Given the description of an element on the screen output the (x, y) to click on. 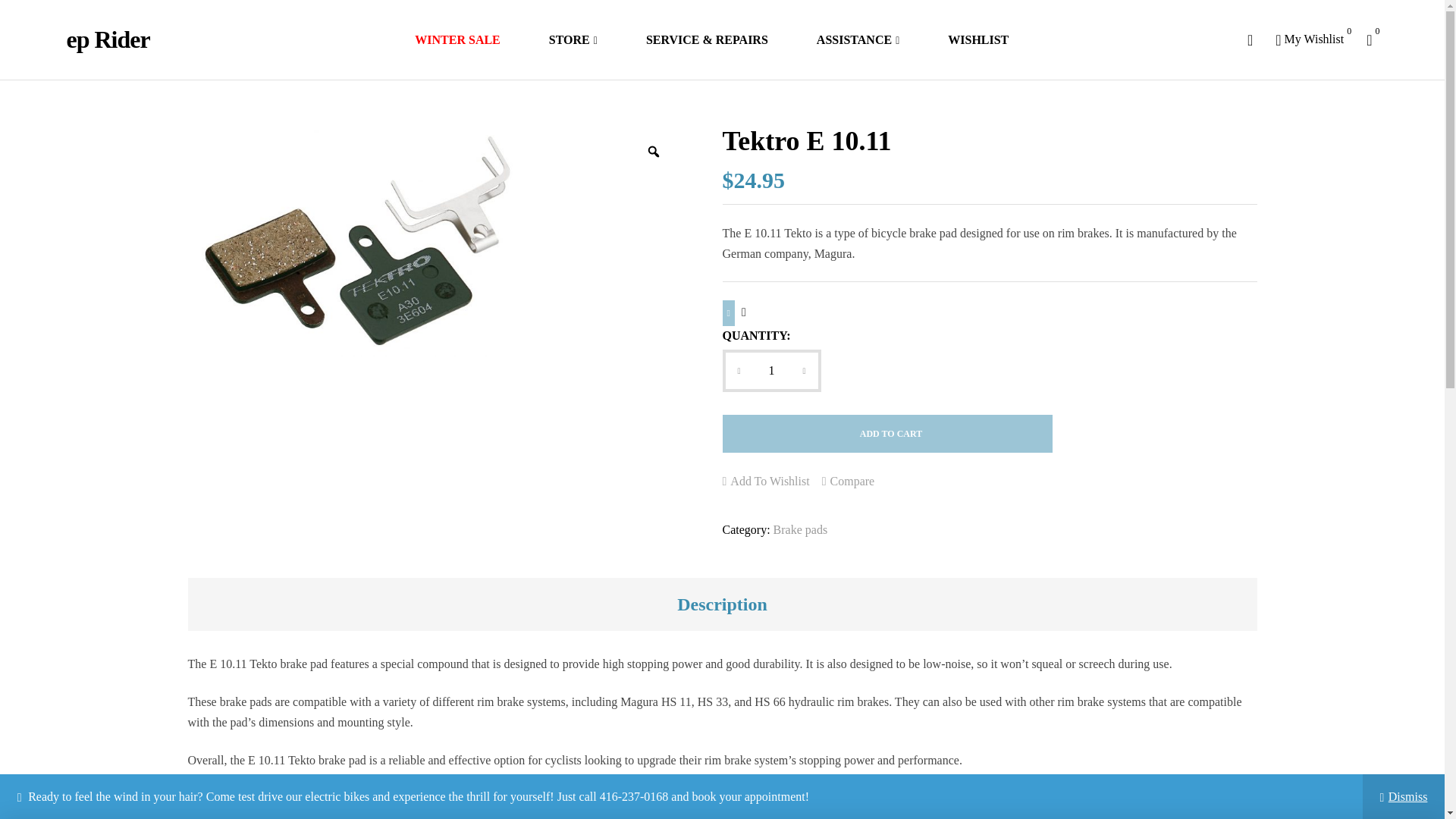
1 (771, 370)
WISHLIST (977, 39)
STORE (1309, 39)
ASSISTANCE (572, 39)
12507055dc42512a4bb26.64881771 (857, 39)
ep Rider (356, 241)
WINTER SALE (107, 39)
